Given the description of an element on the screen output the (x, y) to click on. 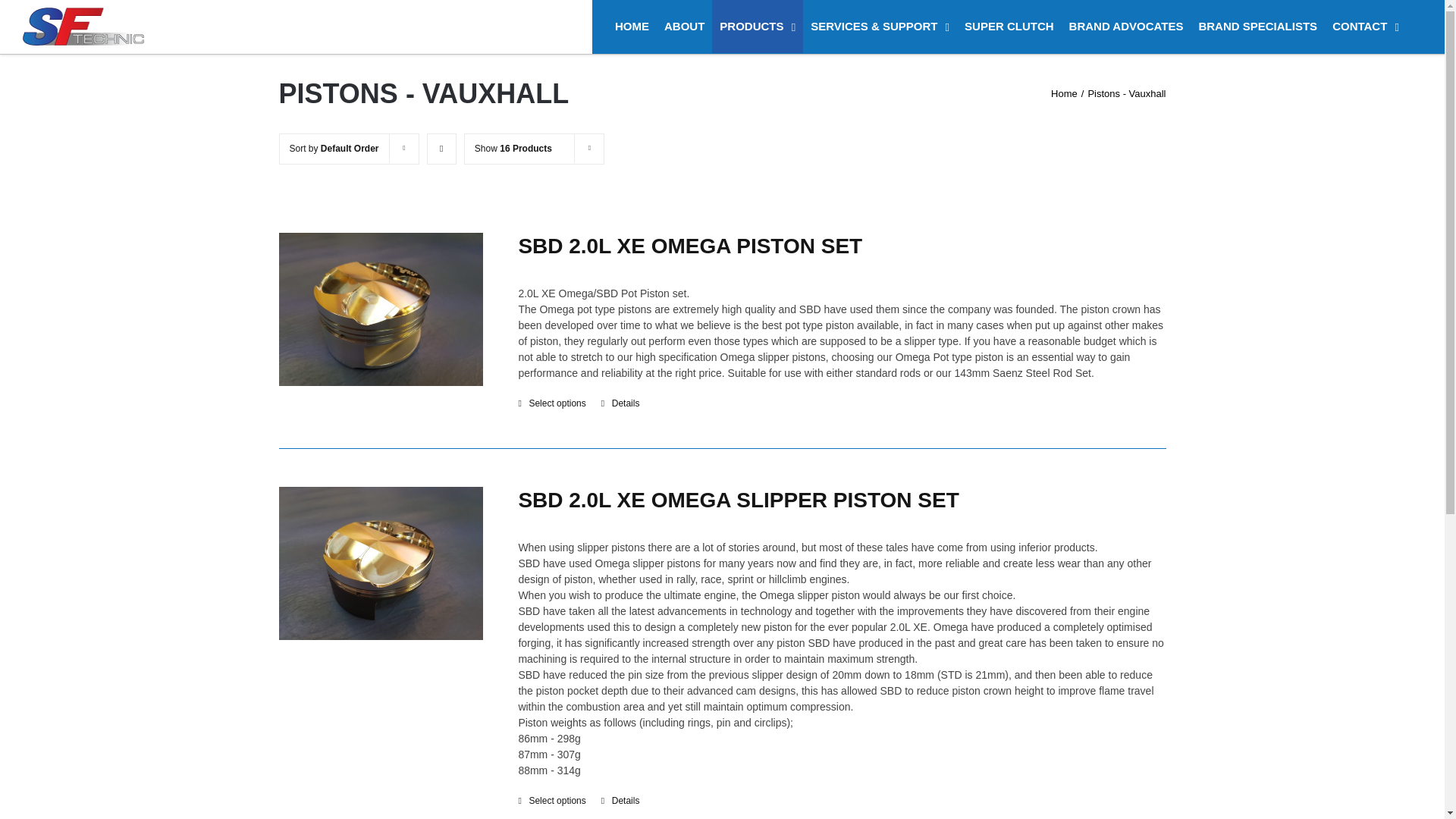
HOME (631, 26)
PRODUCTS (757, 26)
Home (1064, 93)
Show 16 Products (512, 148)
CONTACT (1365, 26)
BRAND SPECIALISTS (1257, 26)
ABOUT (683, 26)
BRAND ADVOCATES (1126, 26)
Sort by Default Order (333, 148)
SUPER CLUTCH (1008, 26)
